Given the description of an element on the screen output the (x, y) to click on. 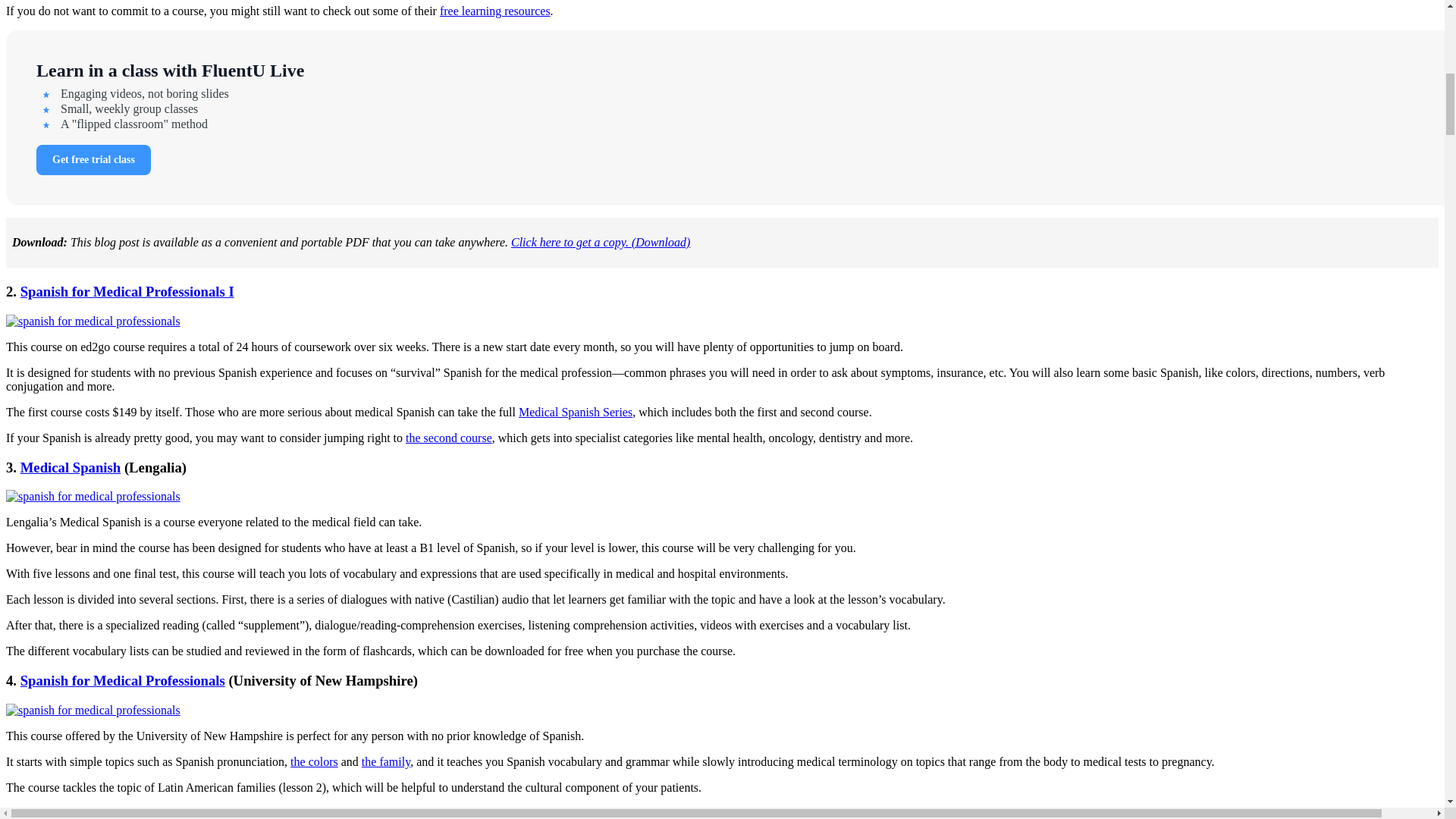
Medical Spanish Series (574, 411)
free learning resources (494, 10)
Get free trial class (93, 159)
Spanish for Medical Professionals I (127, 291)
Medical Spanish (70, 467)
the second course (449, 437)
